Given the description of an element on the screen output the (x, y) to click on. 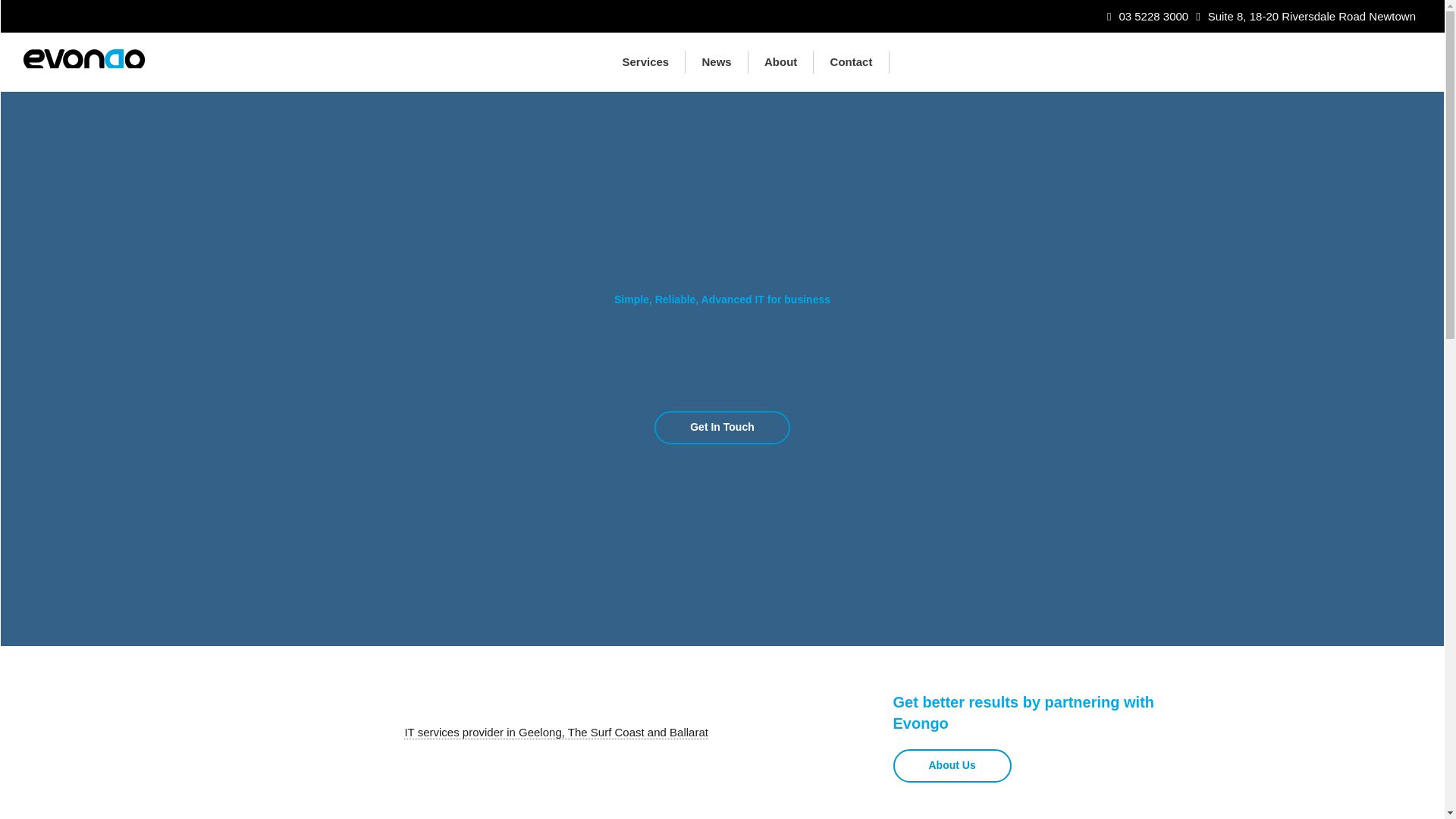
IT services provider in Geelong, The Surf Coast and Ballarat (555, 732)
Home (573, 61)
Contact (850, 61)
News (716, 61)
Services (645, 61)
About (780, 61)
Get In Touch (721, 427)
